Given the description of an element on the screen output the (x, y) to click on. 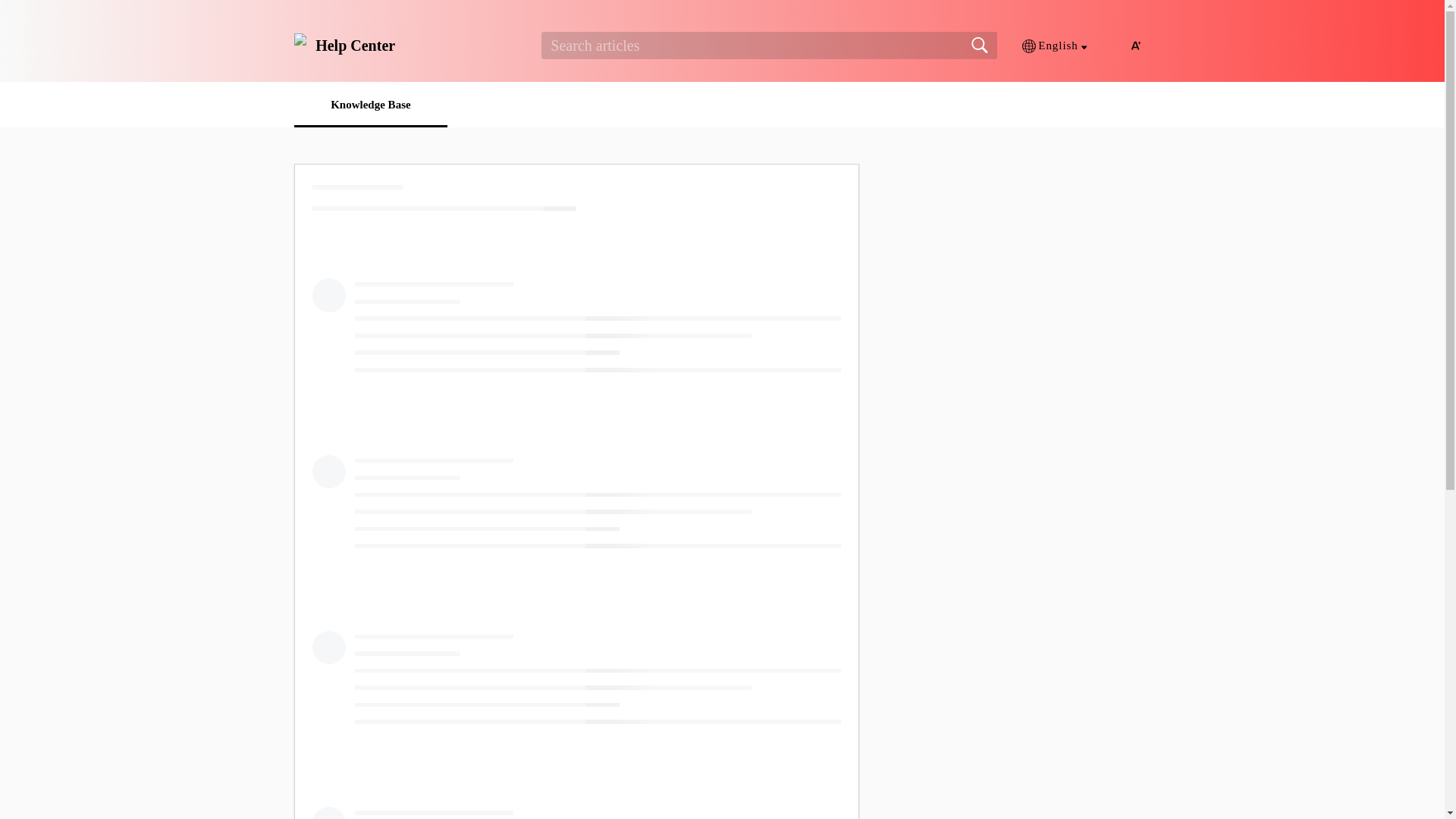
Knowledge Base (370, 104)
Knowledge Base (370, 104)
Search (979, 45)
English (1054, 45)
